Given the description of an element on the screen output the (x, y) to click on. 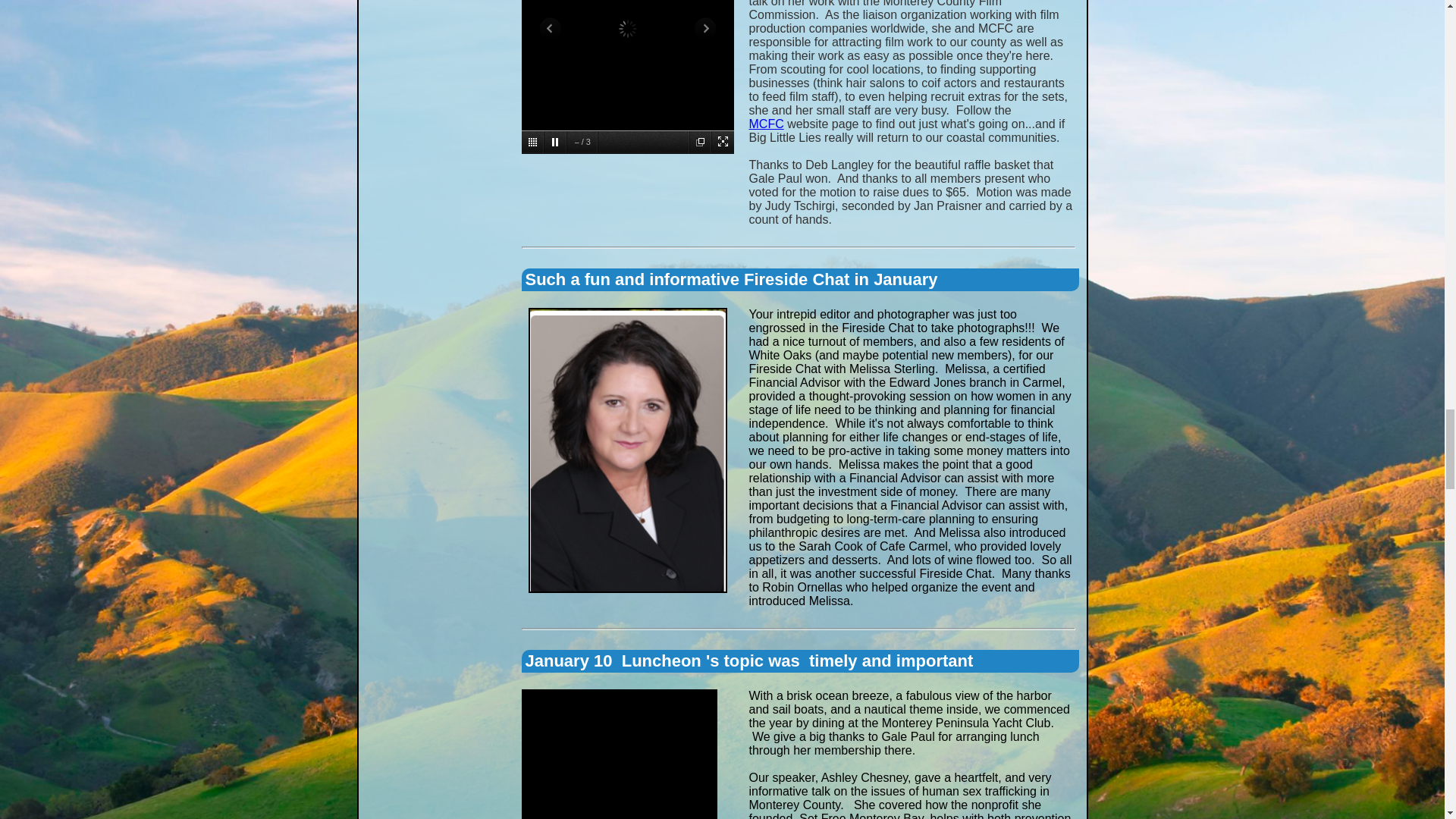
MCFC (766, 123)
